Given the description of an element on the screen output the (x, y) to click on. 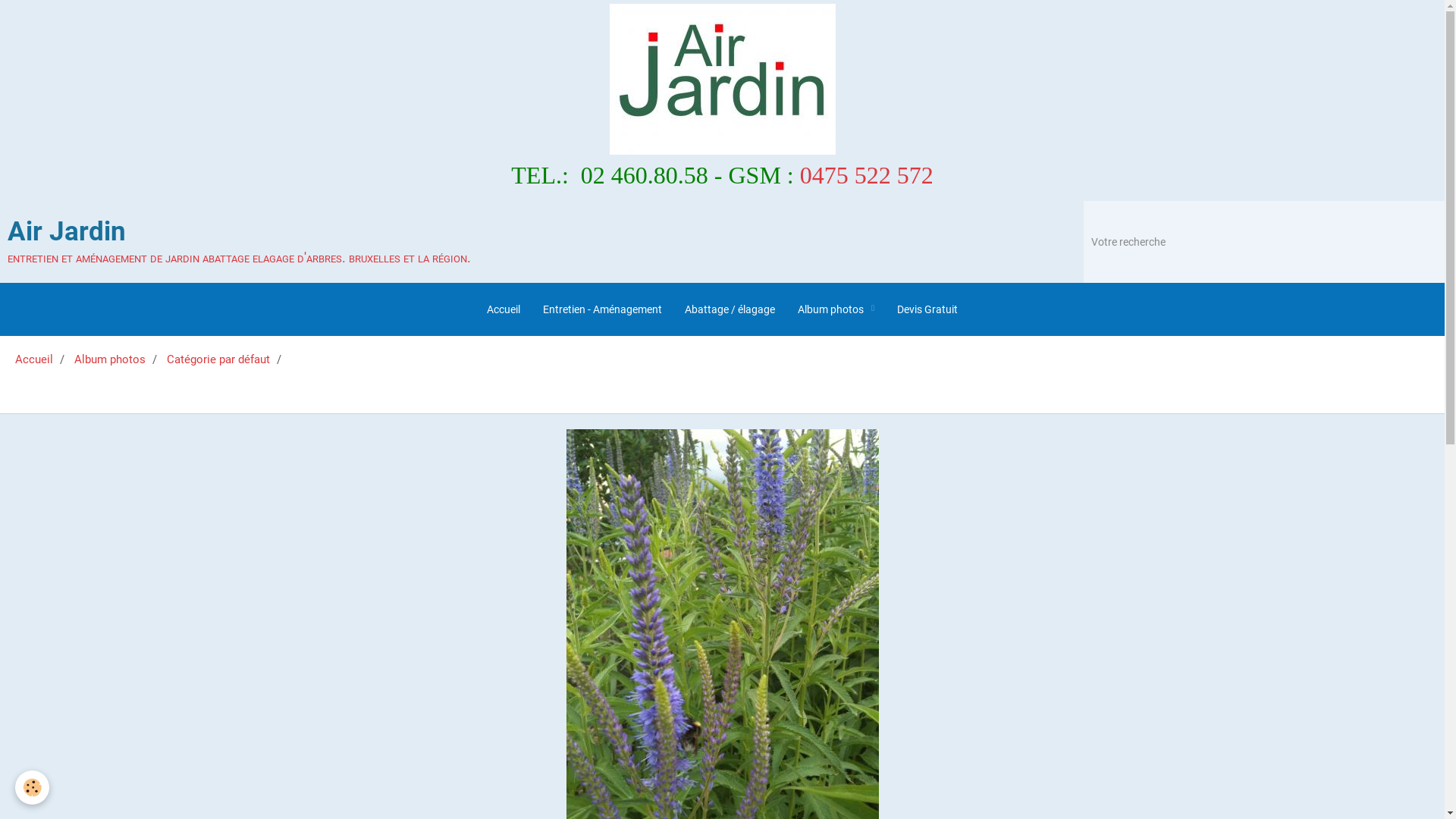
Accueil Element type: text (503, 308)
Devis Gratuit Element type: text (927, 308)
Accueil Element type: text (34, 359)
Album photos Element type: text (109, 359)
0475 522 572 Element type: text (866, 174)
Album photos Element type: text (835, 308)
